Given the description of an element on the screen output the (x, y) to click on. 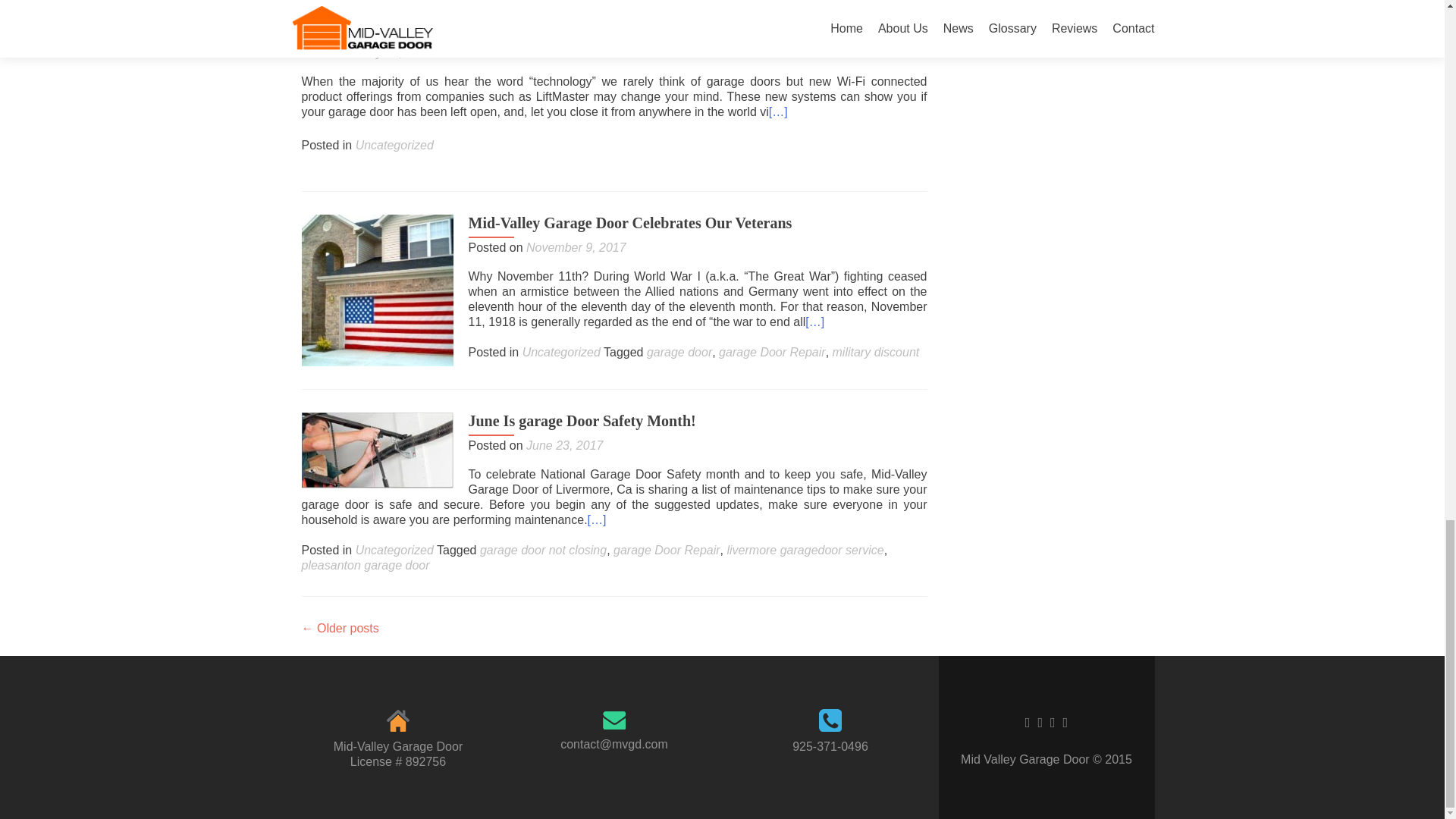
June Is garage Door Safety Month! (376, 449)
Mid-Valley Garage Door Celebrates Our Veterans (376, 288)
